Given the description of an element on the screen output the (x, y) to click on. 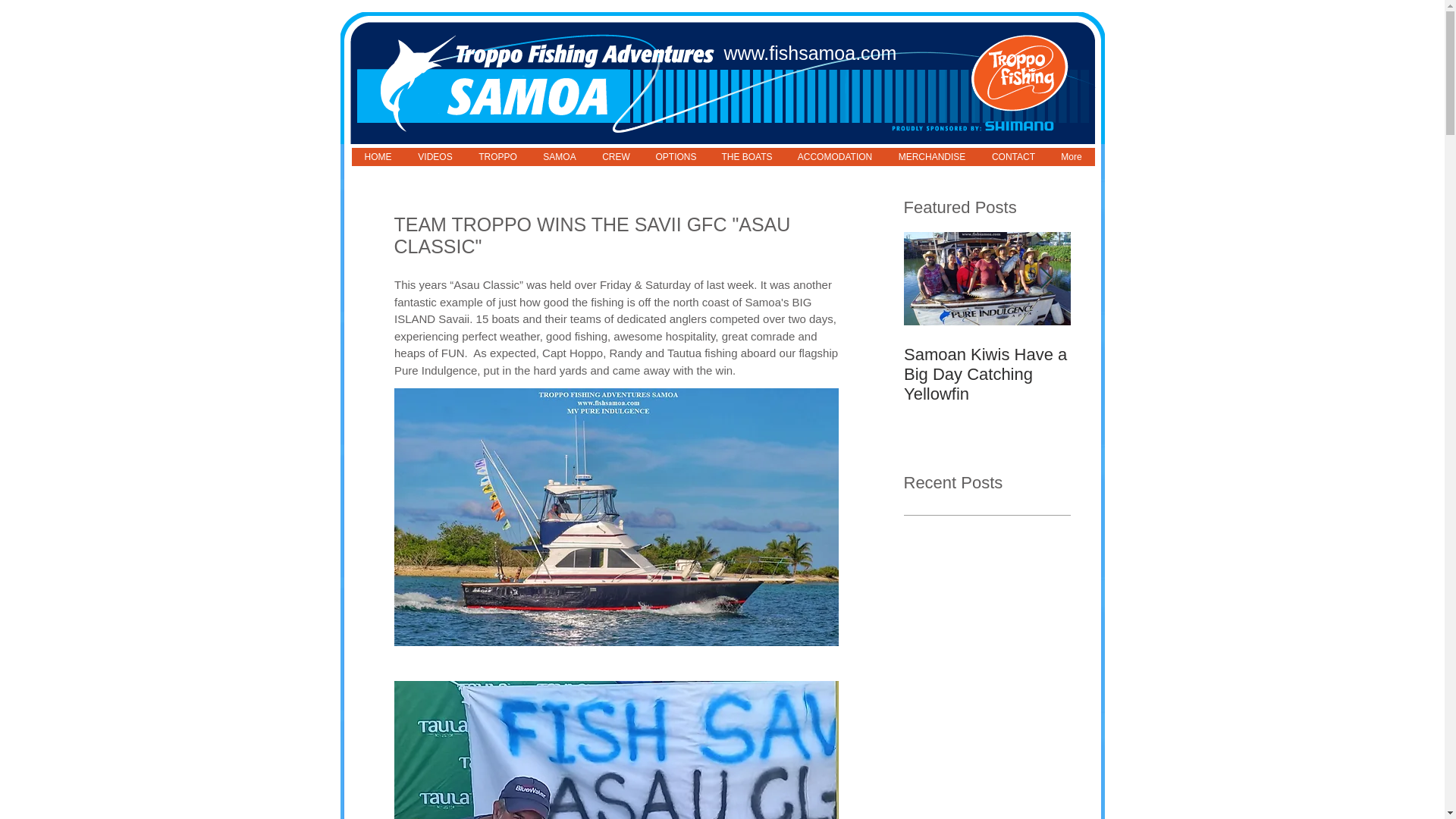
ACCOMODATION (833, 157)
www.fishsamoa.com (809, 52)
CONTACT (1012, 157)
THE BOATS (745, 157)
SAMOA (558, 157)
CREW (615, 157)
Samoan Kiwis Have a Big Day Catching Yellowfin (987, 374)
MERCHANDISE (930, 157)
Team Troppo - 2010 SIGFA international champions (1153, 374)
VIDEOS (434, 157)
